Given the description of an element on the screen output the (x, y) to click on. 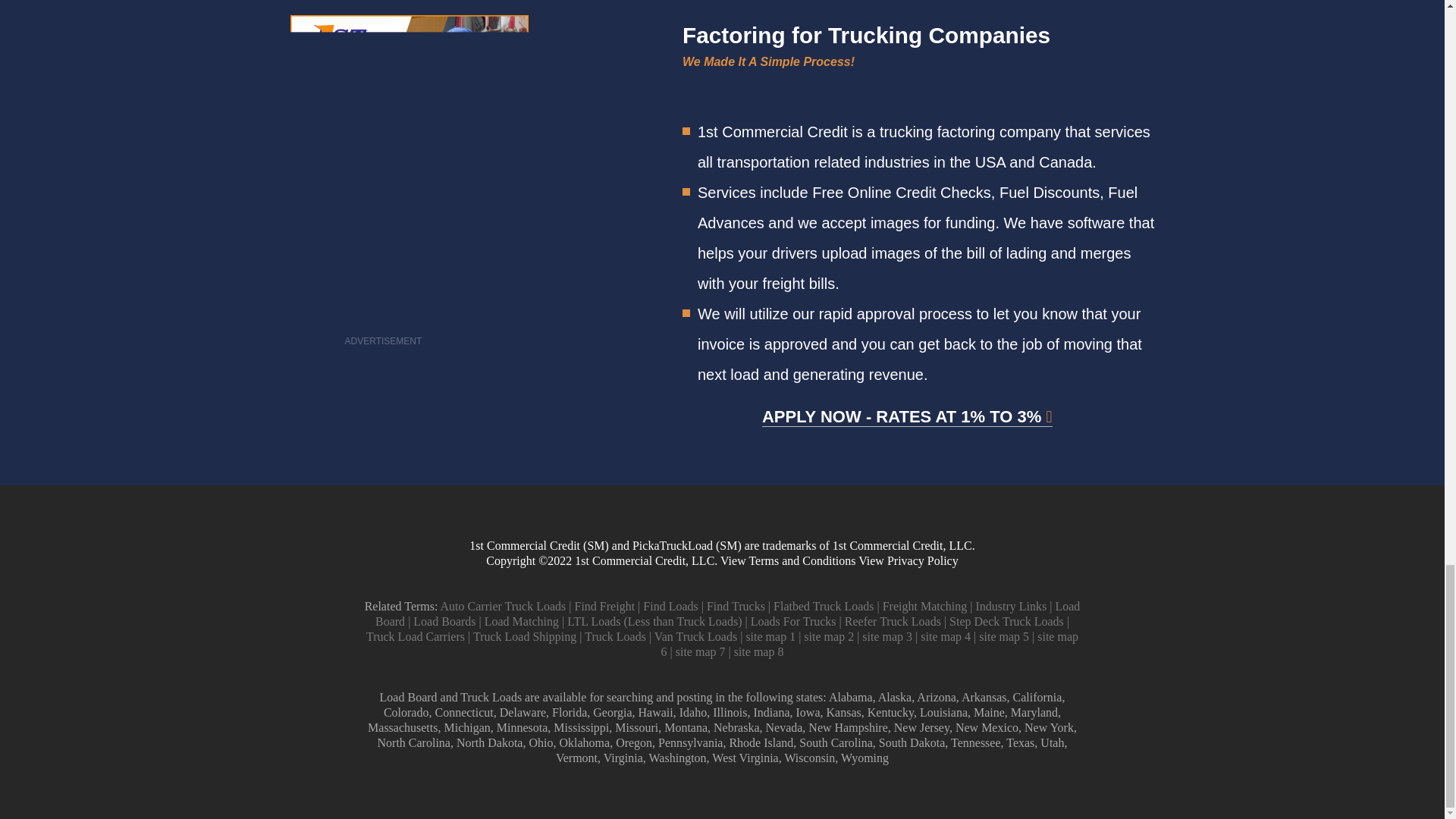
Privacy Policy (922, 560)
Find Trucks (735, 605)
Auto Carrier Truck Loads (503, 605)
Loads For Trucks (793, 621)
Terms and Conditions (802, 560)
Industry Links (1010, 605)
Freight Matching (925, 605)
Load Matching (521, 621)
Reefer Truck Loads (892, 621)
Load Board (727, 613)
Step Deck Truck Loads (1006, 621)
Find Loads (670, 605)
Find Freight (604, 605)
Flatbed Truck Loads (823, 605)
Load Boards (444, 621)
